Given the description of an element on the screen output the (x, y) to click on. 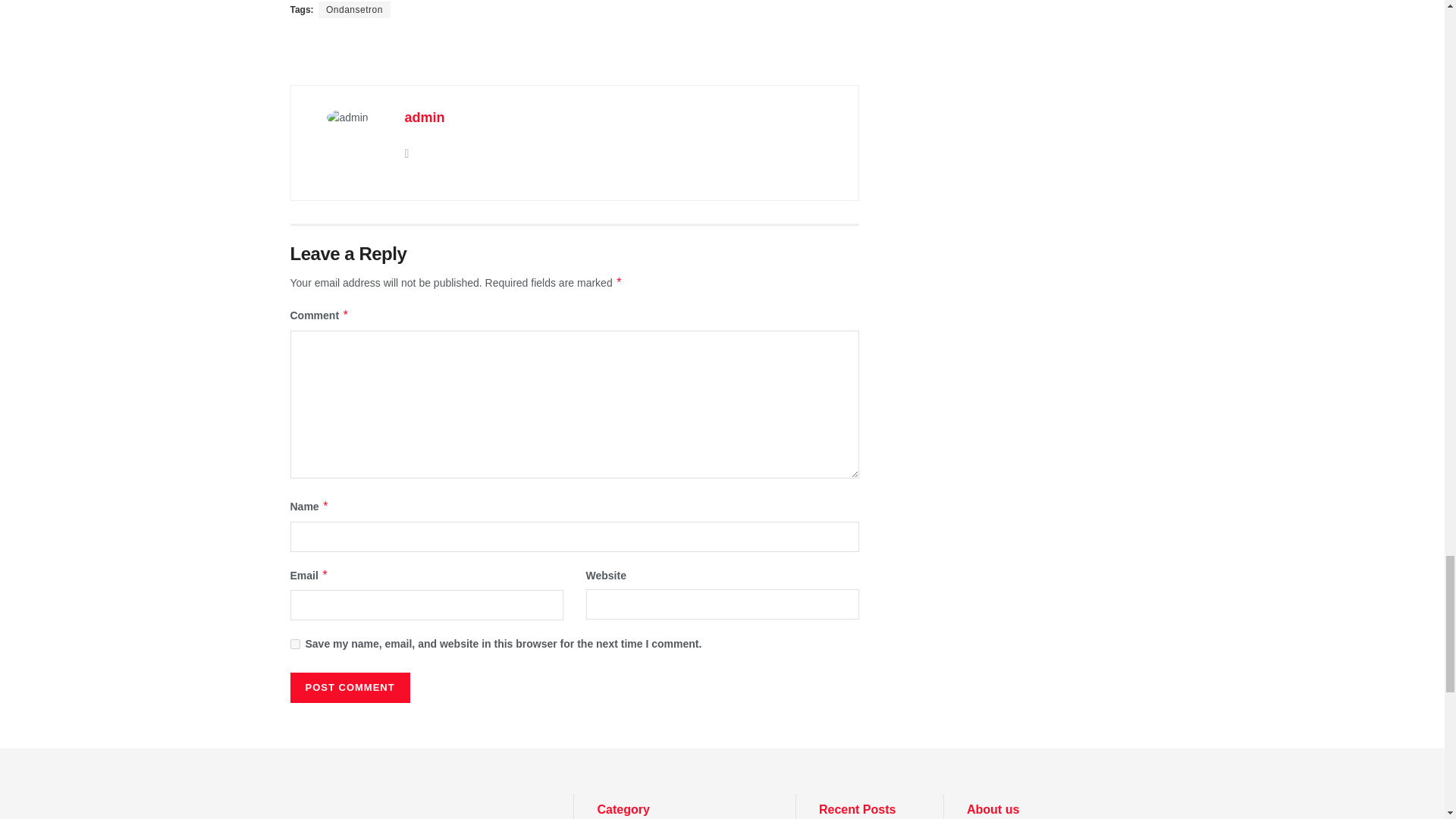
yes (294, 644)
Post Comment (349, 687)
